Given the description of an element on the screen output the (x, y) to click on. 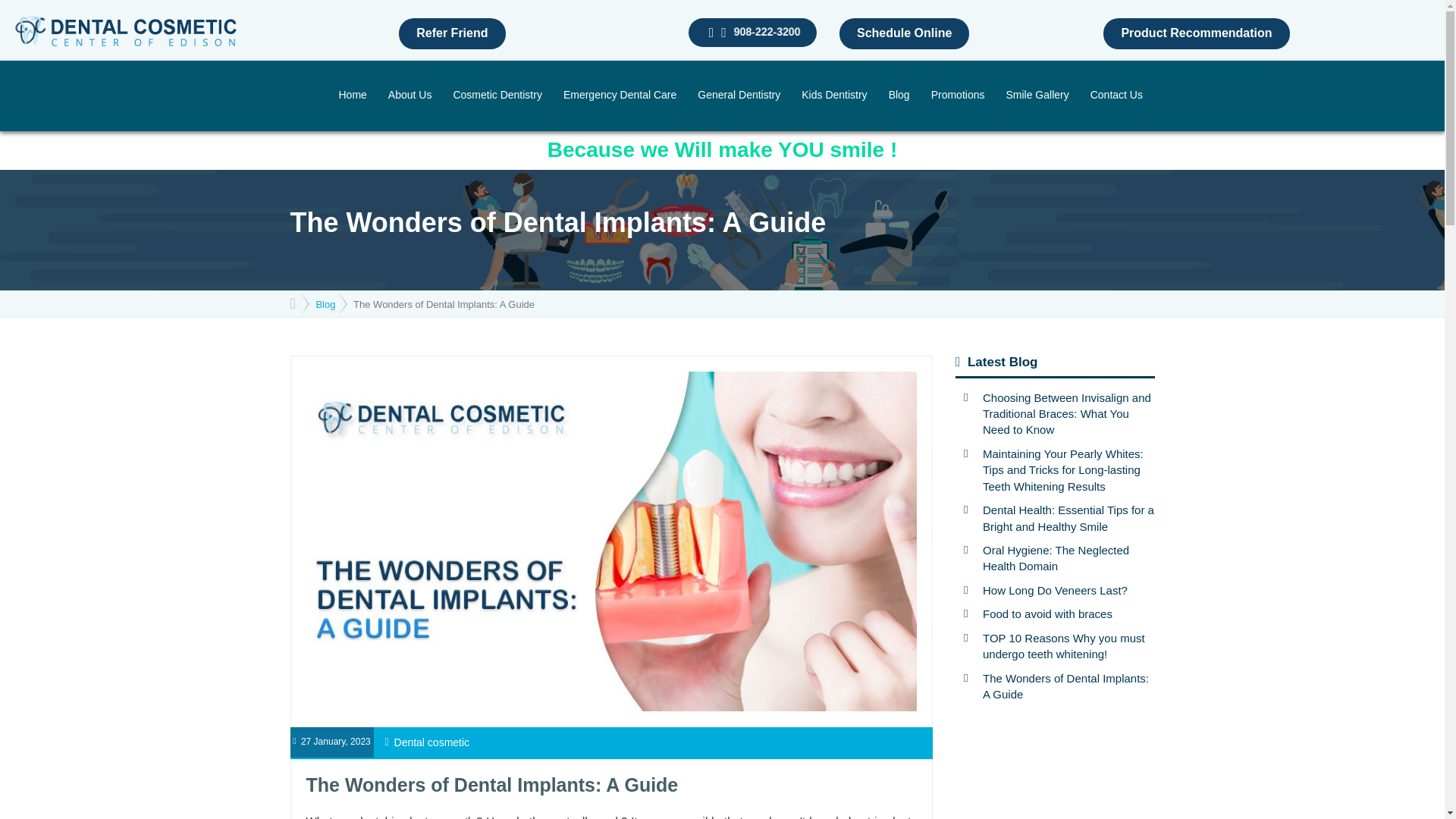
Product Recommendation (1195, 33)
908-222-3200 (766, 32)
About Us (409, 96)
Emergency Dental Care (620, 96)
Schedule Online (904, 33)
About Us (409, 96)
Cosmetic Dentistry (496, 96)
Home (352, 96)
Dental Cosmetic Center of Edison (124, 30)
Home (352, 96)
Refer Friend (451, 33)
Emergency Dental Care (620, 96)
General Dentistry (738, 96)
Cosmetic Dentistry (496, 96)
